Given the description of an element on the screen output the (x, y) to click on. 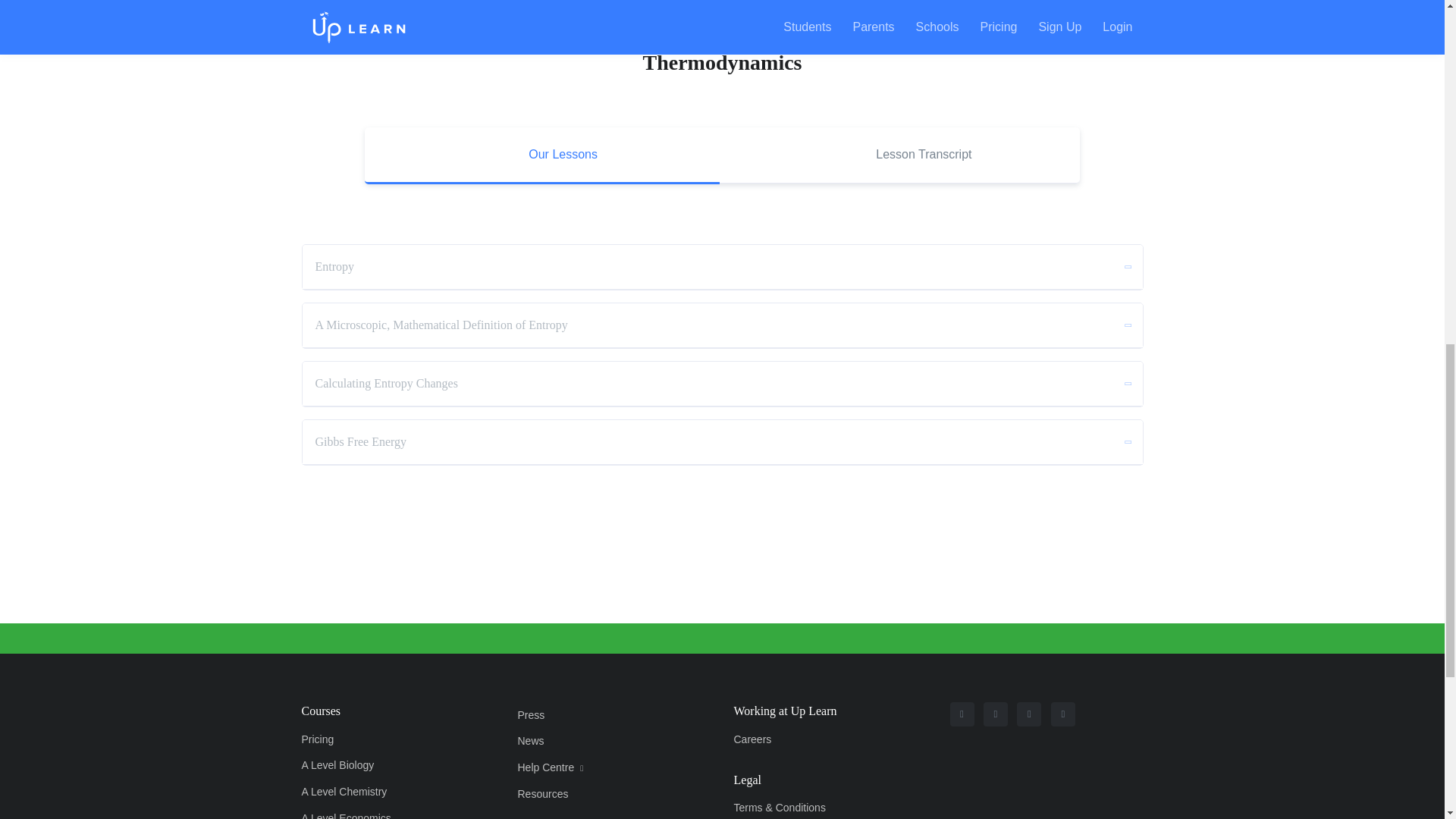
Facebook (995, 713)
Entropy (721, 266)
Lesson Transcript (902, 155)
Calculating Entropy Changes (721, 383)
A Level Economics (362, 812)
A Level Biology (362, 765)
Gibbs Free Energy (721, 442)
Instagram (961, 713)
Our Lessons (542, 155)
A Microscopic, Mathematical Definition of Entropy (721, 325)
Pricing (362, 739)
Google (1063, 713)
Twitter (1028, 713)
A Level Chemistry (362, 791)
